Given the description of an element on the screen output the (x, y) to click on. 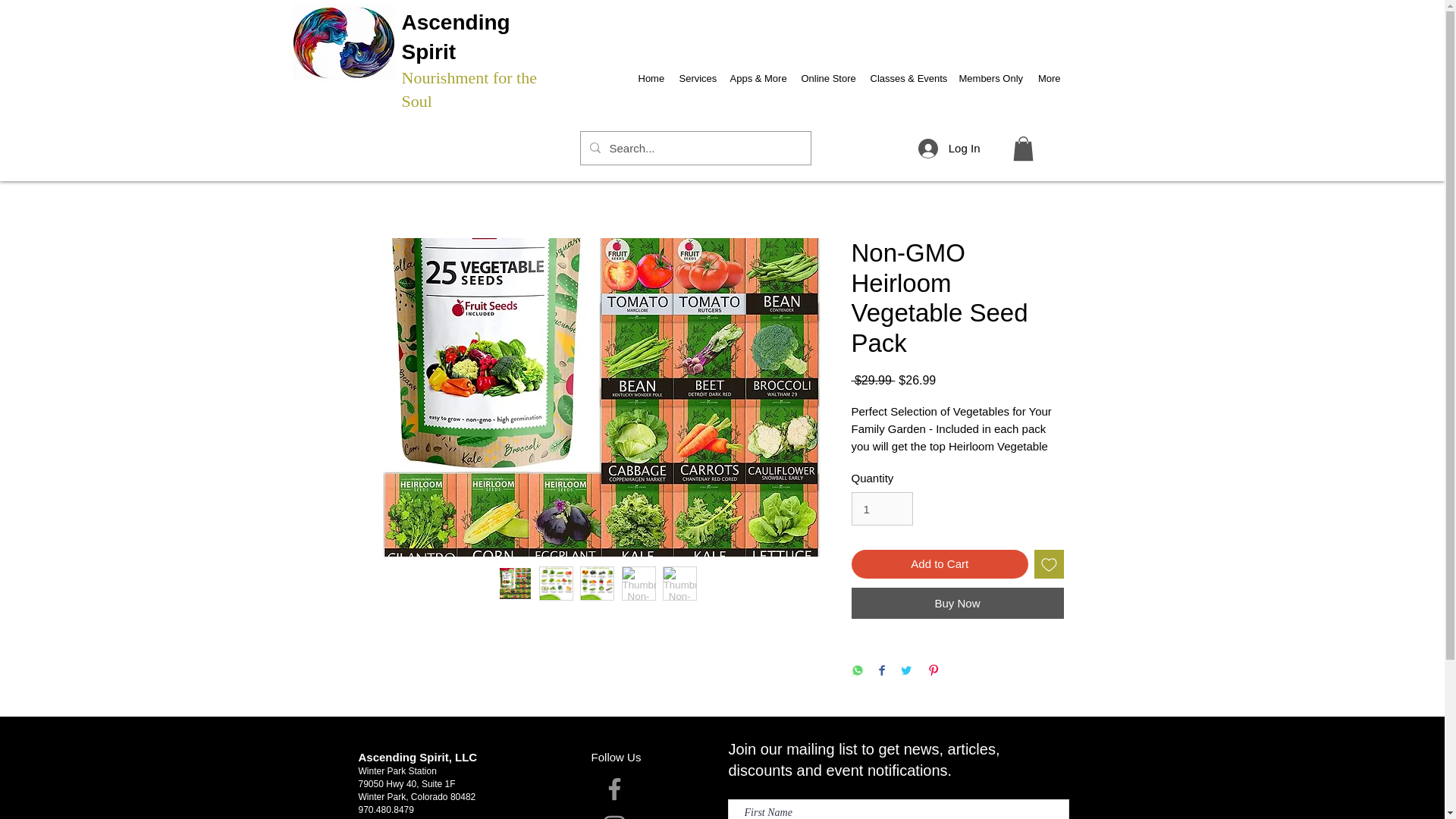
Log In (949, 148)
1 (881, 508)
Ascending Spir (456, 36)
Services (696, 71)
Add to Cart (938, 564)
Members Only (989, 71)
Home (650, 71)
Online Store (827, 71)
